Given the description of an element on the screen output the (x, y) to click on. 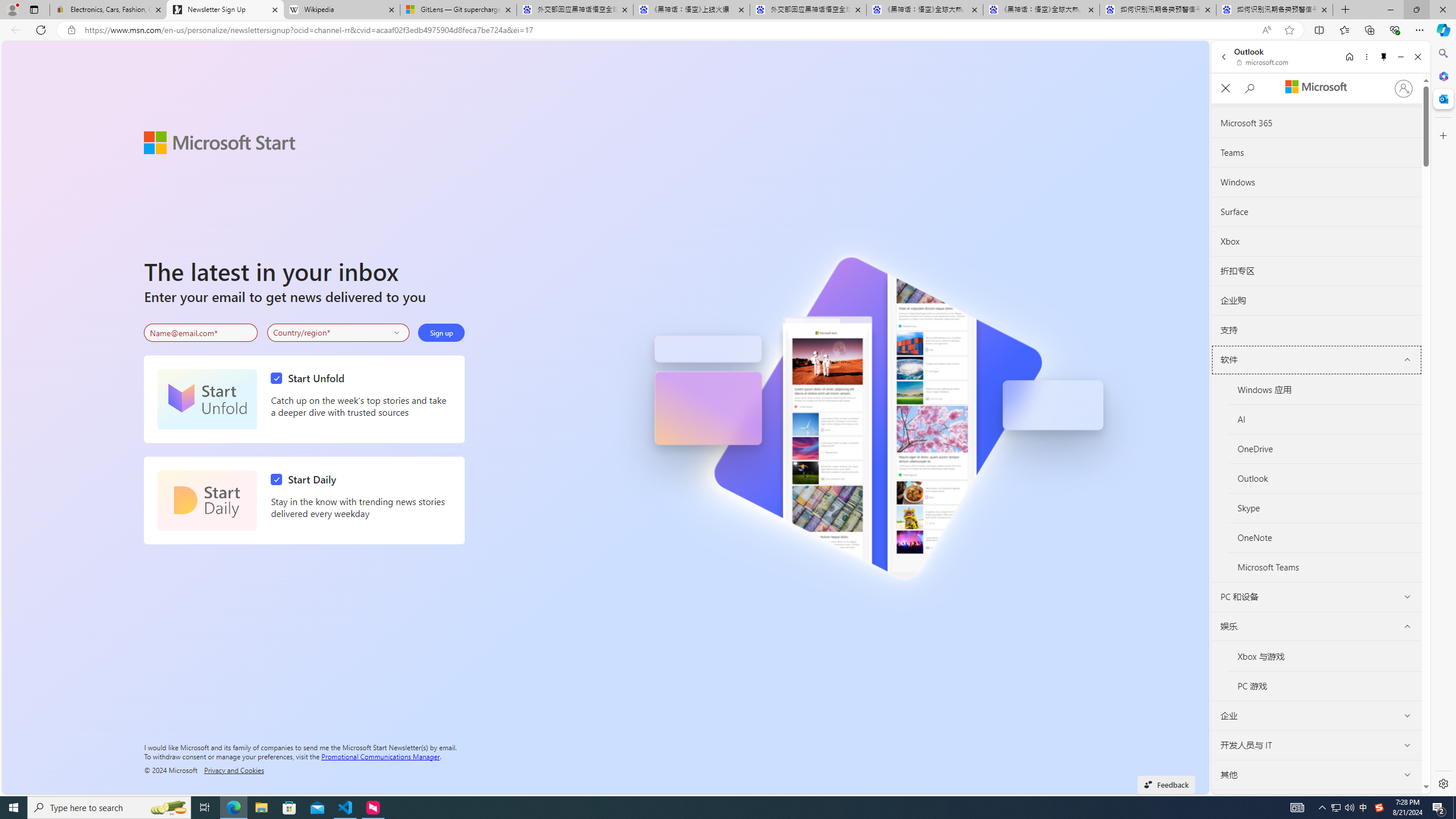
Privacy and Cookies (233, 769)
OneDrive (1325, 449)
Newsletter Sign Up (224, 9)
